Given the description of an element on the screen output the (x, y) to click on. 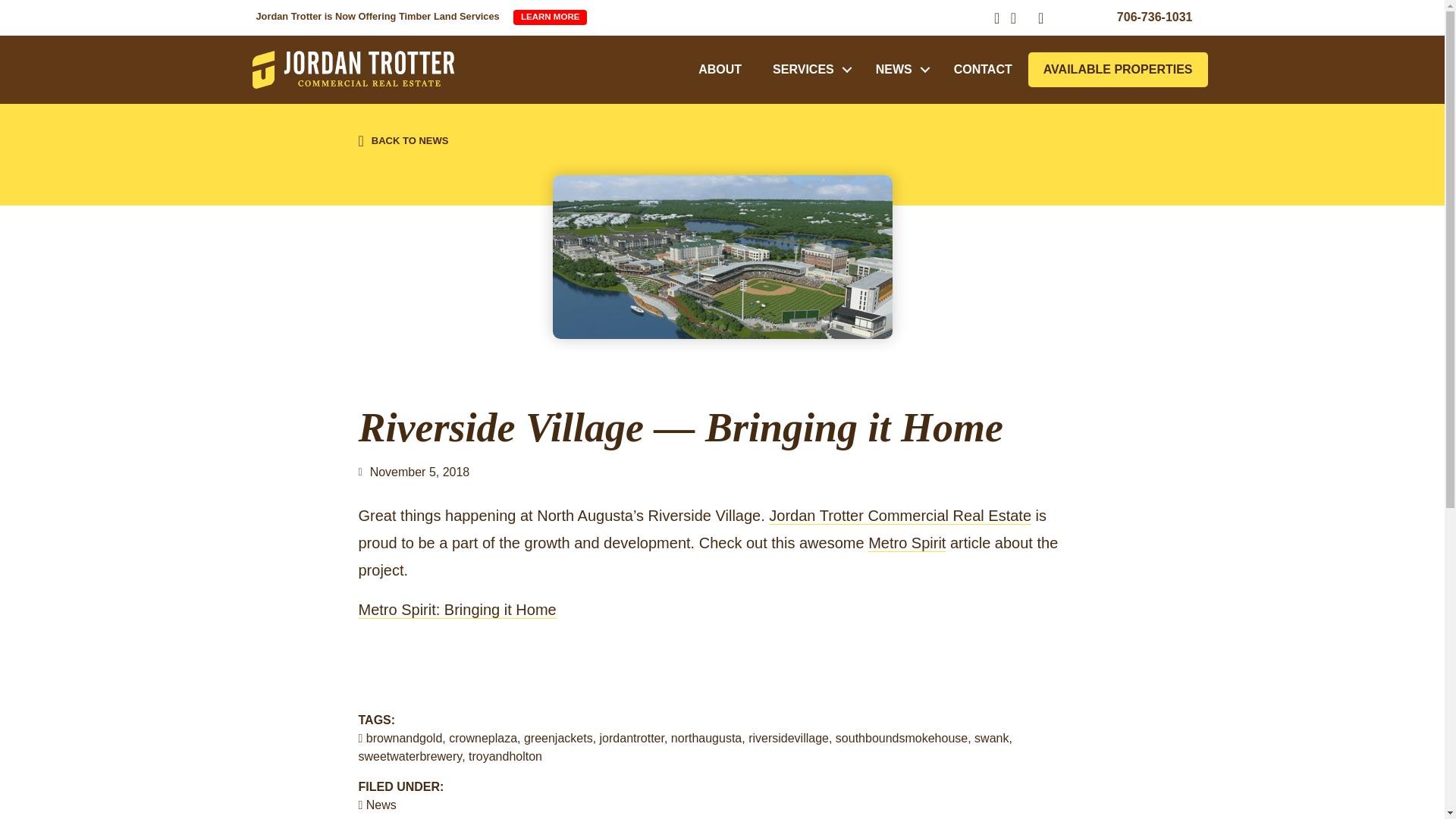
Jordan Trotter Commercial Real Estate (352, 69)
News (381, 804)
crowneplaza (482, 738)
brownandgold (404, 738)
Contact Jordan Trotter (983, 69)
Available Properties (1117, 69)
northaugusta (706, 738)
troyandholton (504, 756)
swank (991, 738)
NEWS (898, 69)
southboundsmokehouse (901, 738)
Metro Spirit (905, 543)
riversidevillage (788, 738)
CONTACT (983, 69)
LEARN MORE (549, 17)
